Given the description of an element on the screen output the (x, y) to click on. 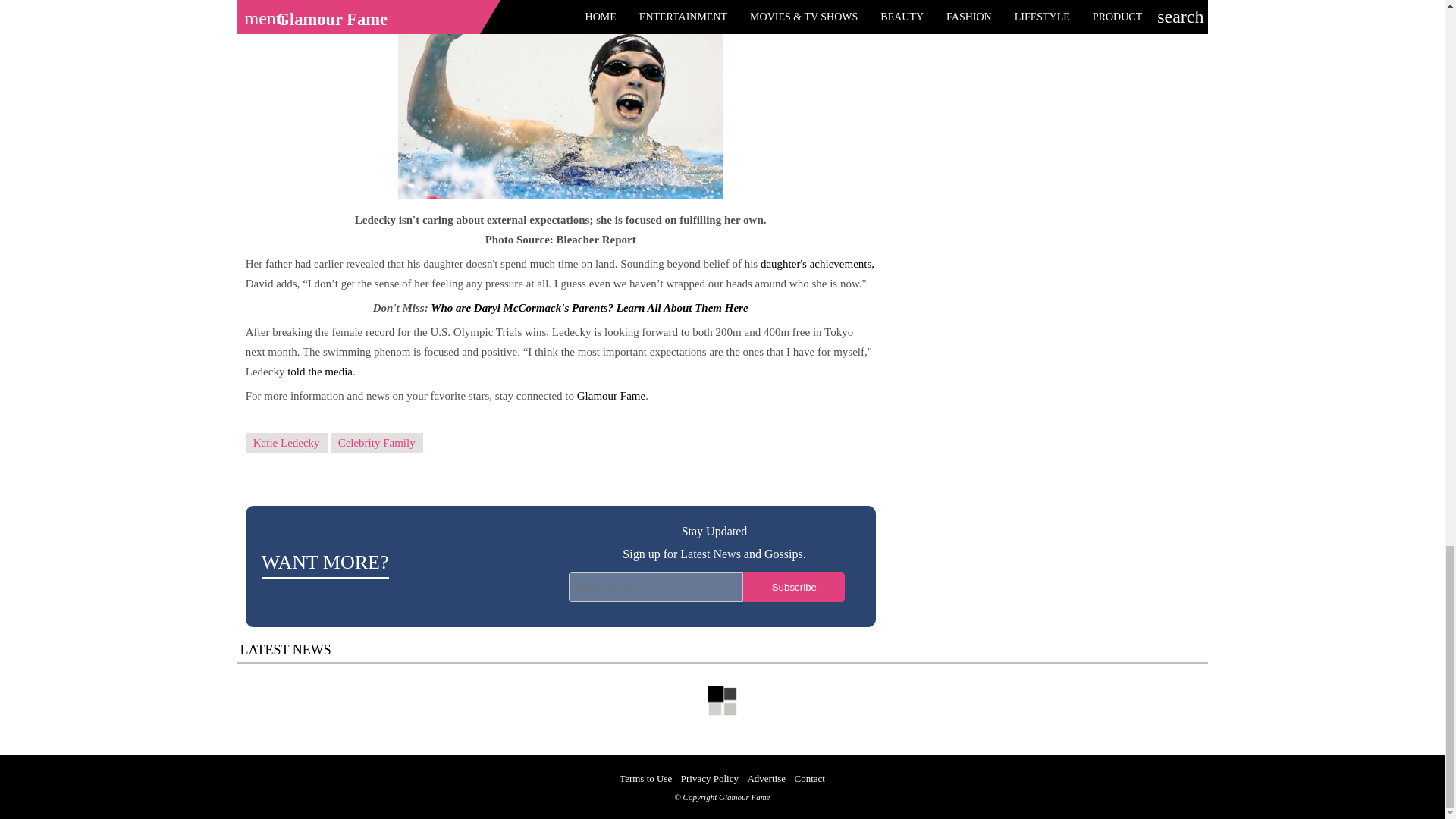
told the media (319, 371)
Glamour Fame (610, 395)
Subscribe (793, 586)
Celebrity Family (376, 443)
daughter's achievements, (817, 263)
Who are Daryl McCormack's Parents? Learn All About Them Here (589, 307)
Katie Ledecky (286, 443)
